Given the description of an element on the screen output the (x, y) to click on. 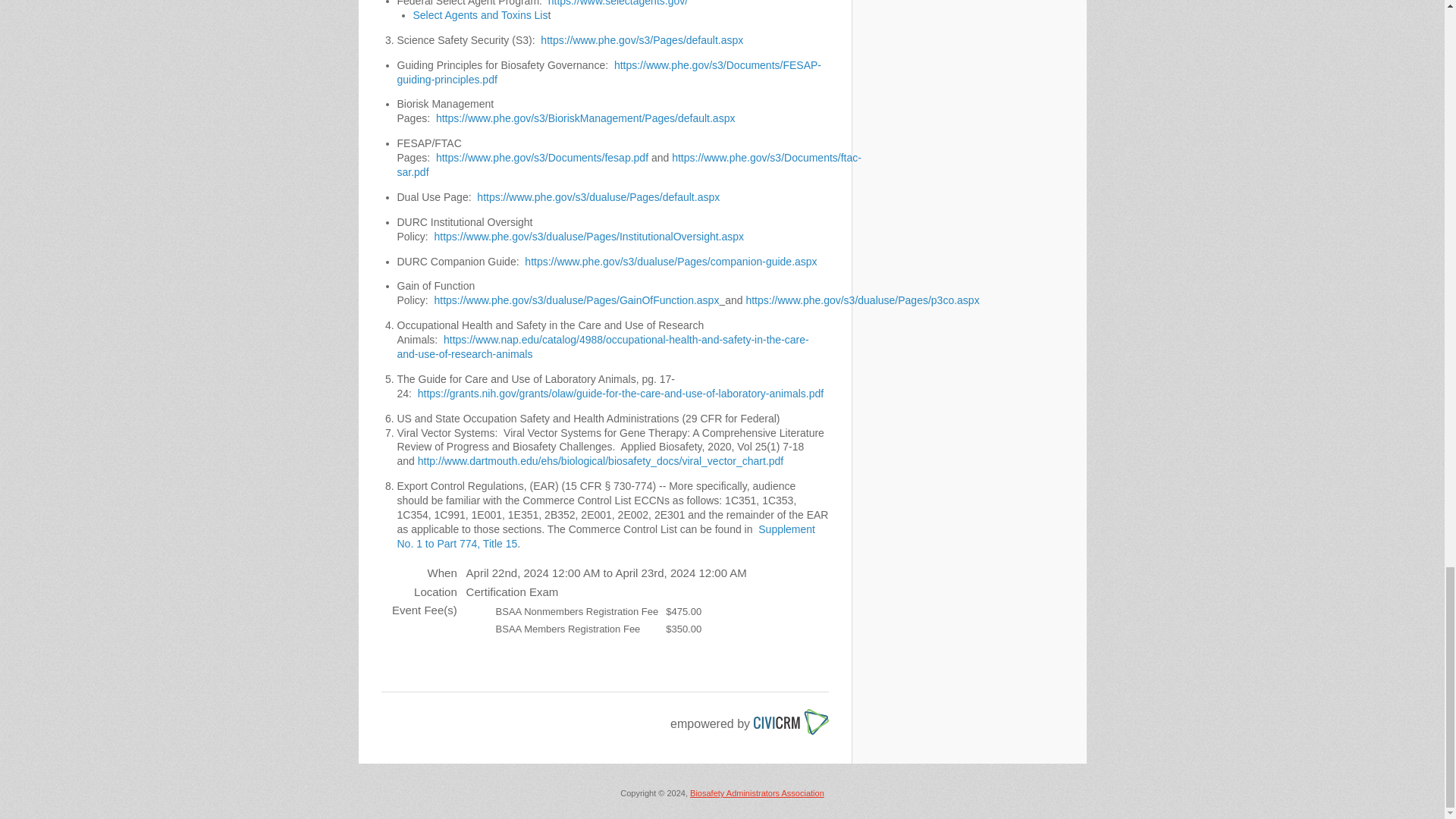
Supplement No. 1 to Part 774, Title 15 (606, 536)
Biosafety Administrators Association (757, 792)
Select Agents and Toxins Lis (479, 15)
CiviCRM.org - Growing and Sustaining Relationships (791, 714)
